Given the description of an element on the screen output the (x, y) to click on. 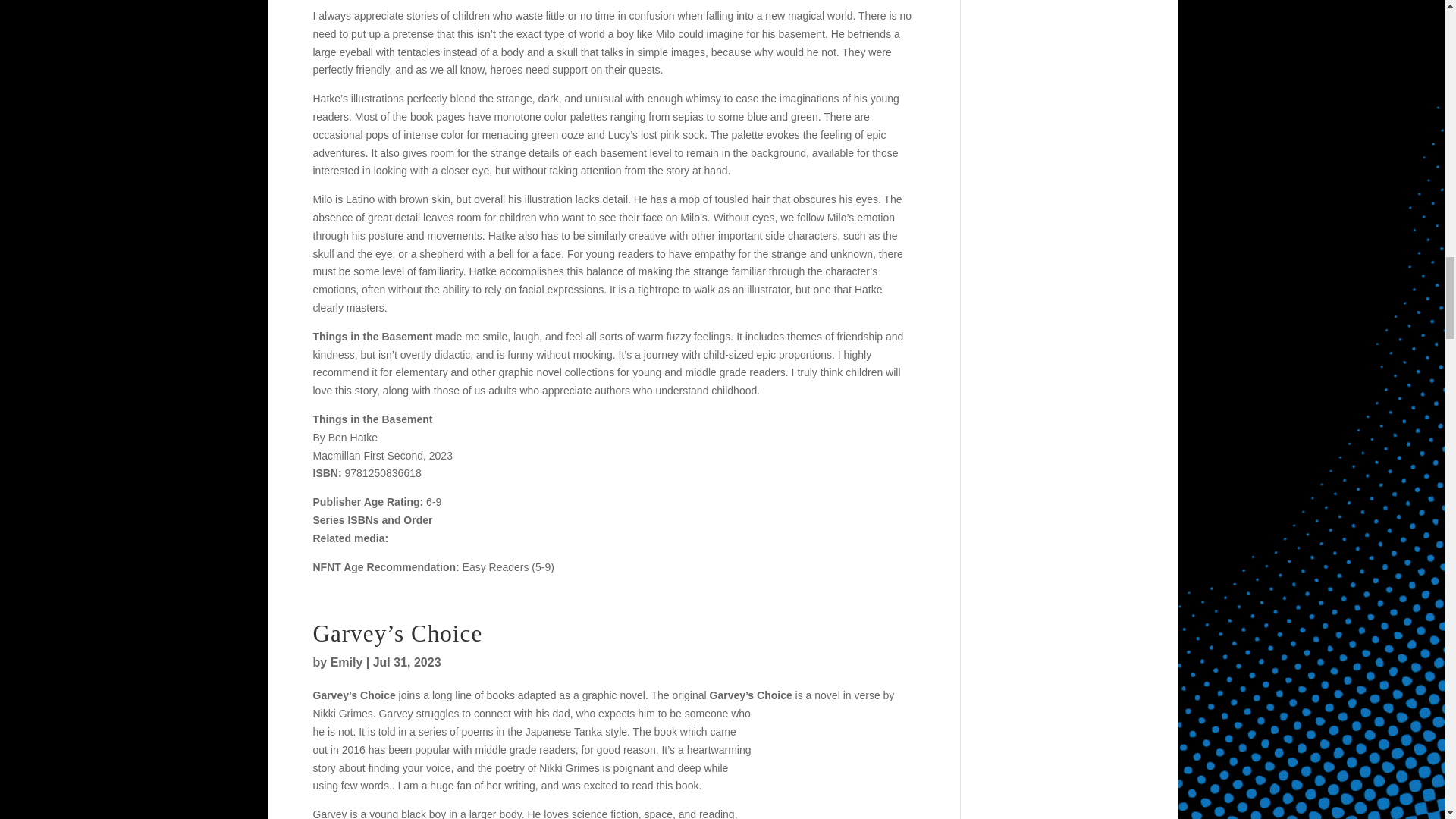
Posts by Emily (346, 662)
